Given the description of an element on the screen output the (x, y) to click on. 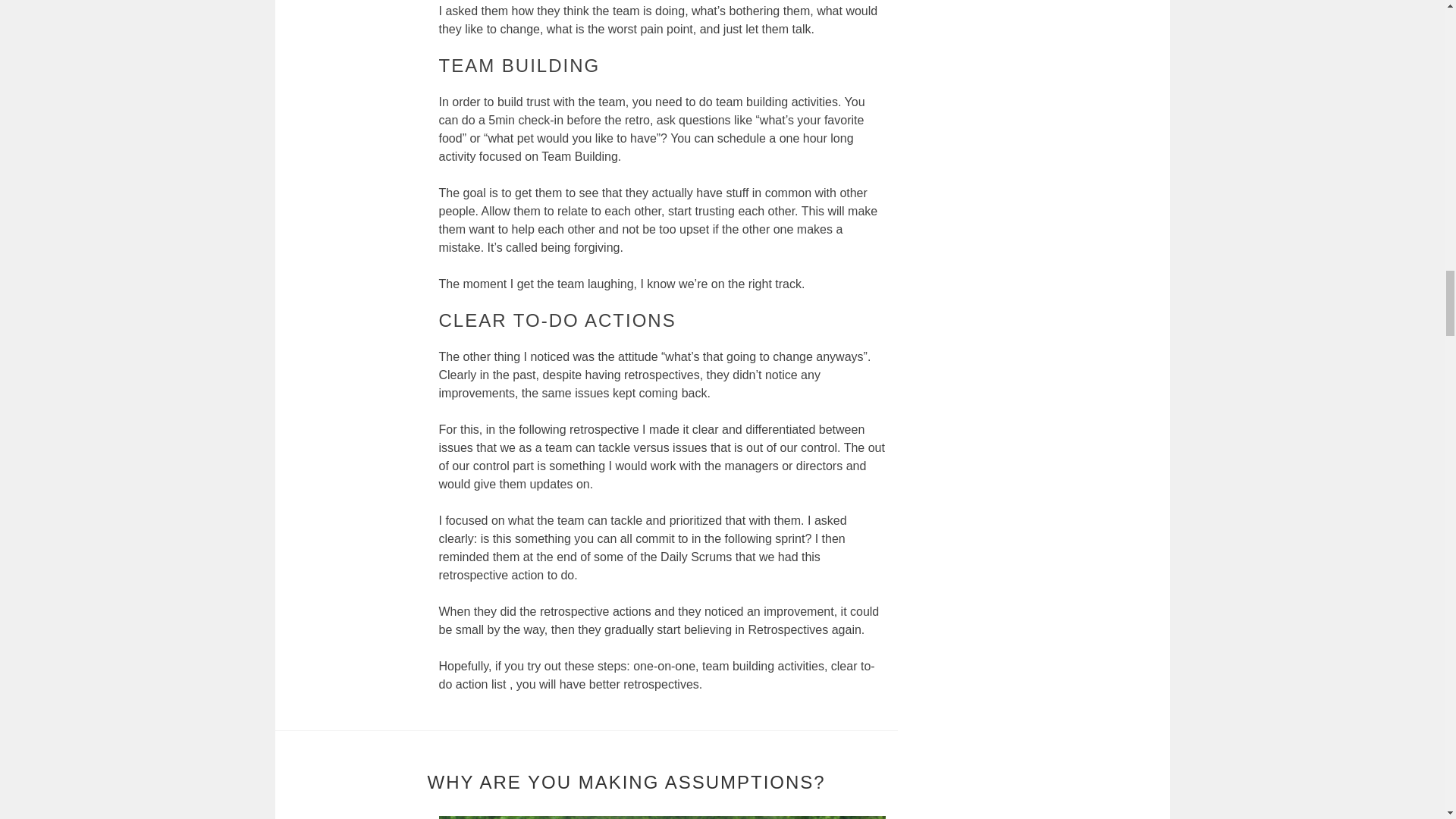
WHY ARE YOU MAKING ASSUMPTIONS? (626, 782)
